Given the description of an element on the screen output the (x, y) to click on. 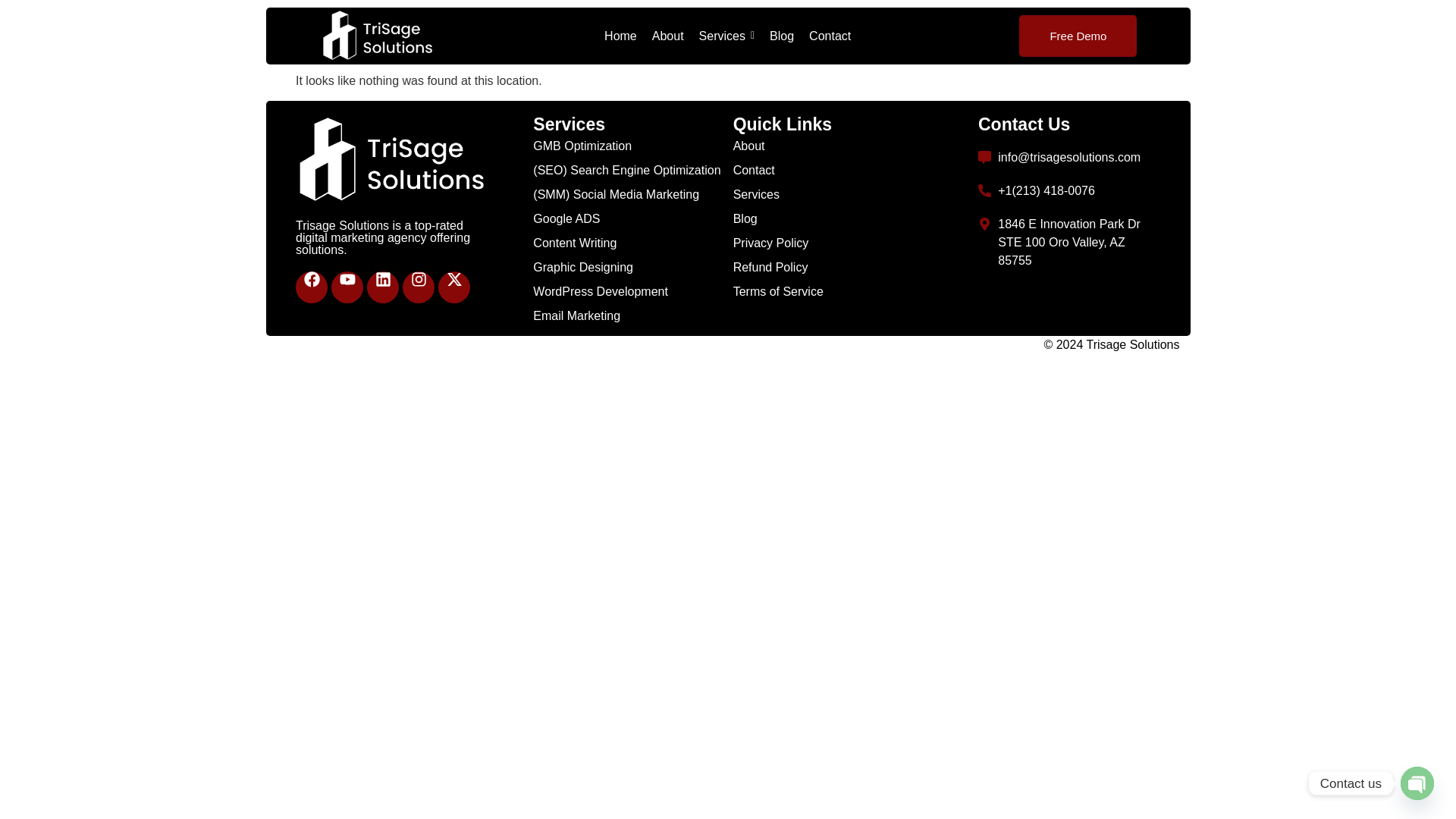
Services (726, 35)
Contact (829, 35)
Home (620, 35)
Free Demo (1078, 35)
About (668, 35)
